Given the description of an element on the screen output the (x, y) to click on. 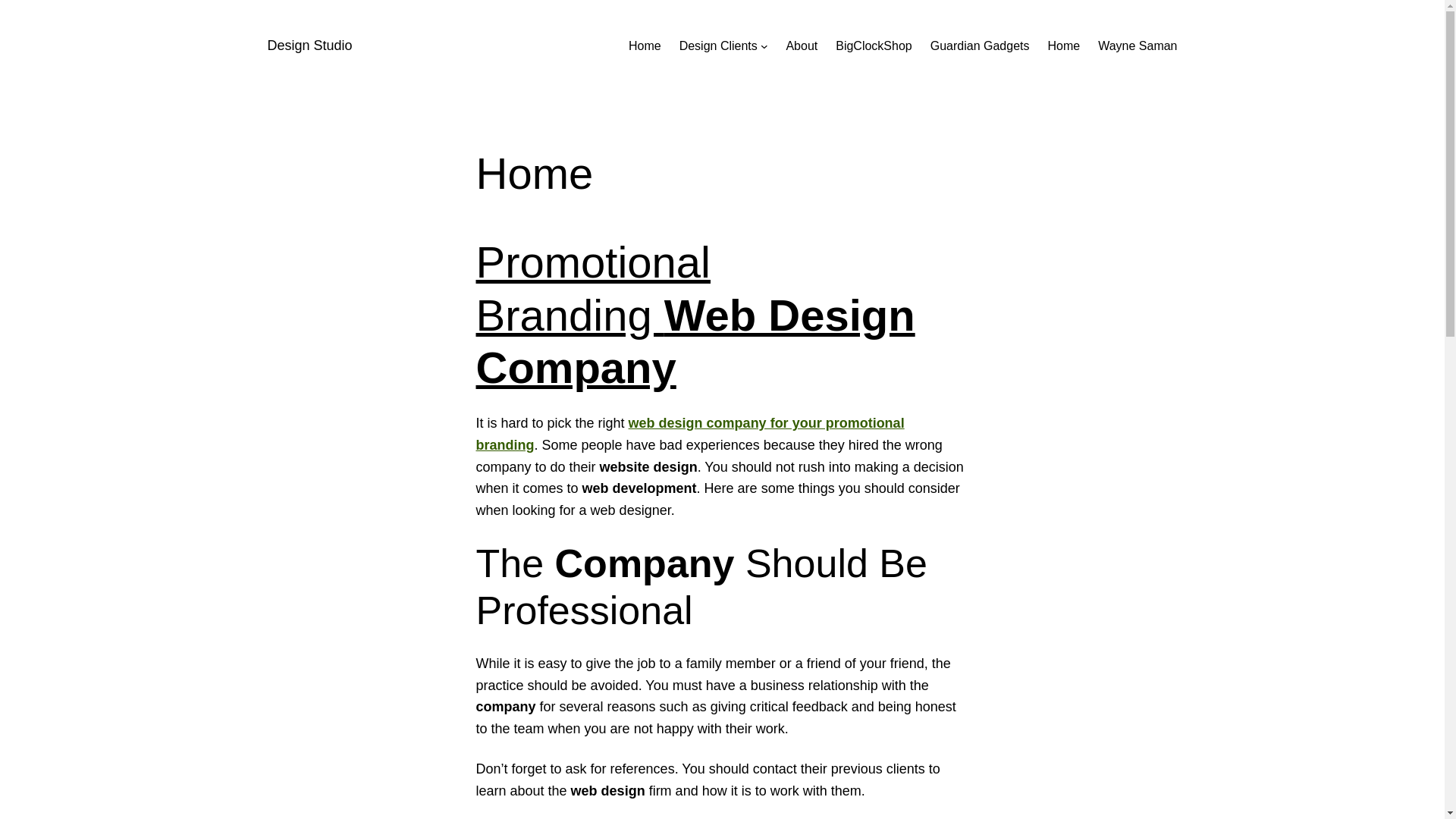
Design Studio Element type: text (308, 45)
Guardian Gadgets Element type: text (979, 46)
Home Element type: text (1063, 46)
web design company for your promotional branding Element type: text (690, 433)
BigClockShop Element type: text (873, 46)
About Element type: text (801, 46)
Home Element type: text (644, 46)
Design Clients Element type: text (718, 46)
Wayne Saman Element type: text (1137, 46)
